Given the description of an element on the screen output the (x, y) to click on. 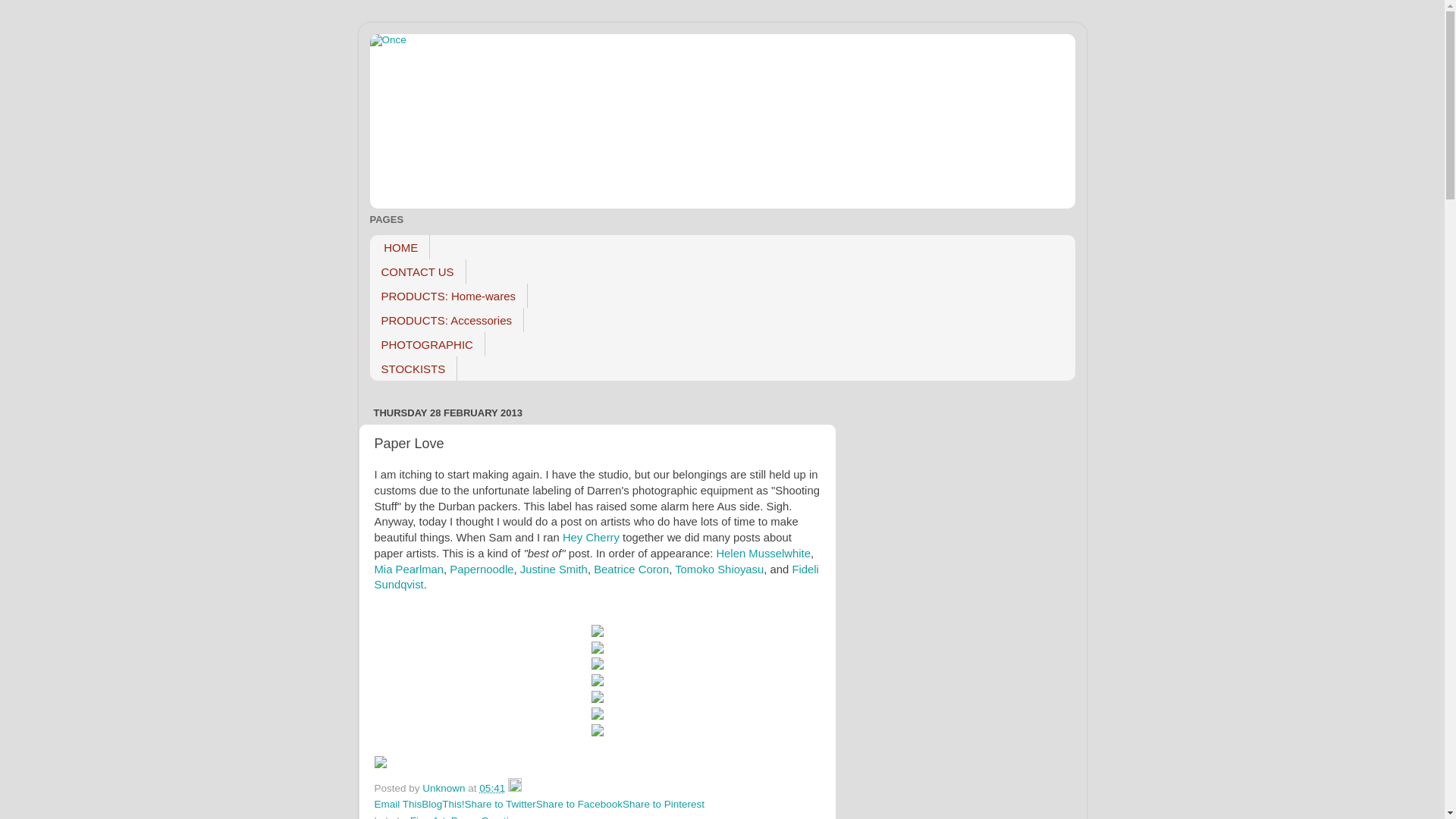
Edit Post Element type: hover (514, 787)
Email This Element type: text (398, 803)
PHOTOGRAPHIC Element type: text (427, 344)
Papernoodle Element type: text (481, 569)
STOCKISTS Element type: text (414, 368)
Unknown Element type: text (444, 787)
HOME Element type: text (400, 247)
05:41 Element type: text (492, 787)
Share to Facebook Element type: text (579, 803)
Helen Musselwhite Element type: text (762, 553)
BlogThis! Element type: text (442, 803)
Justine Smith Element type: text (553, 569)
Fideli Sundqvist Element type: text (596, 577)
Mia Pearlman Element type: text (409, 569)
PRODUCTS: Accessories Element type: text (447, 319)
Share to Pinterest Element type: text (663, 803)
Tomoko Shioyasu Element type: text (718, 569)
Hey Cherry Element type: text (590, 537)
Share to Twitter Element type: text (500, 803)
CONTACT US Element type: text (418, 271)
Beatrice Coron Element type: text (630, 569)
PRODUCTS: Home-wares Element type: text (449, 295)
